Given the description of an element on the screen output the (x, y) to click on. 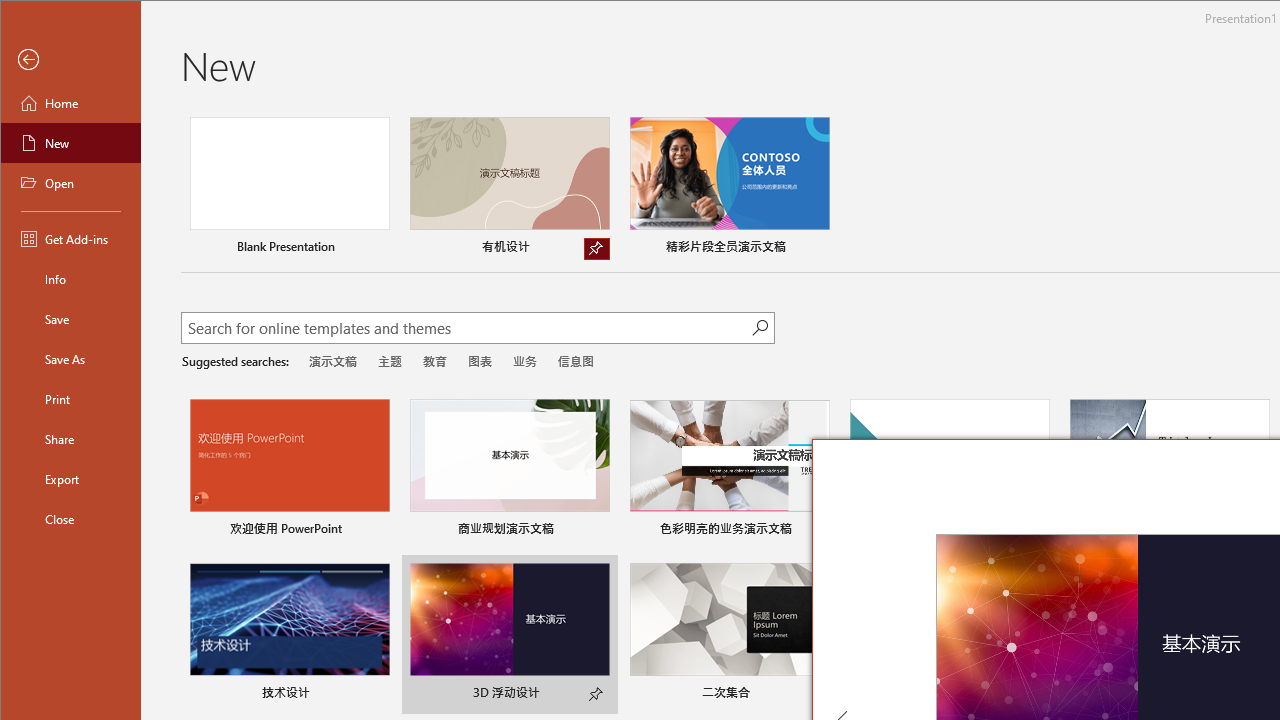
Info (70, 278)
Export (70, 478)
Back (70, 60)
